Given the description of an element on the screen output the (x, y) to click on. 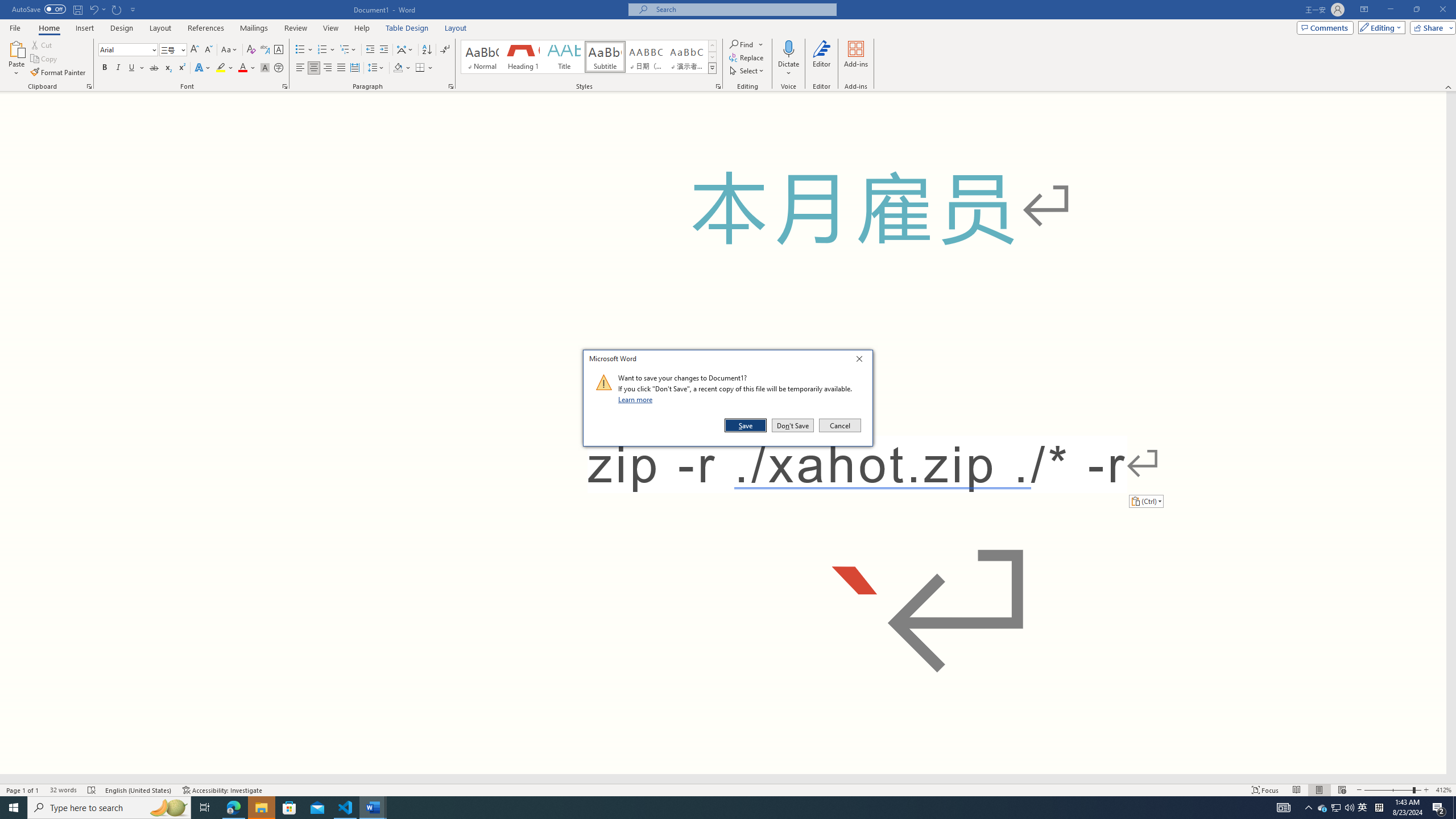
Heading 1 (522, 56)
